Given the description of an element on the screen output the (x, y) to click on. 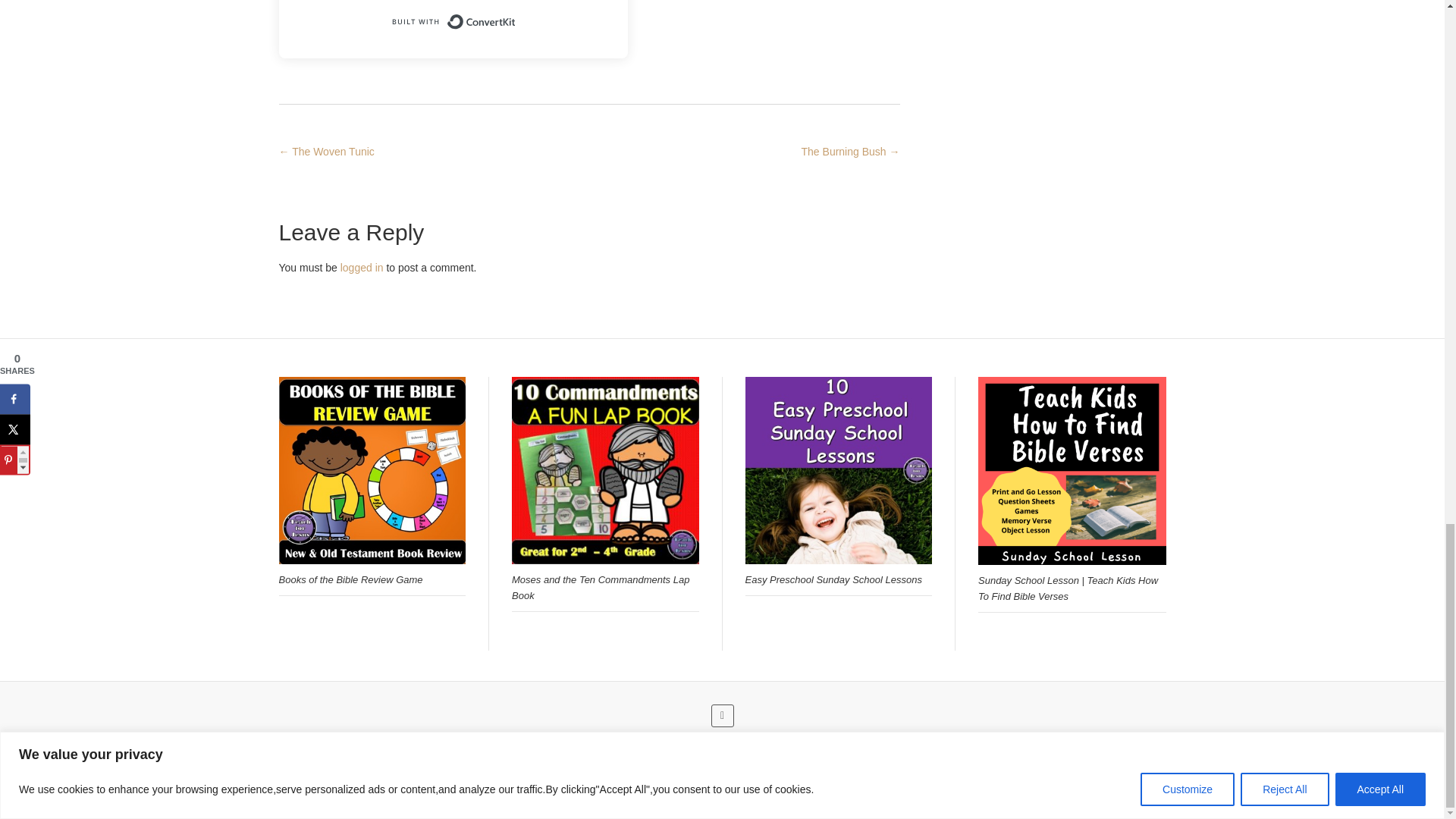
Theme Freesia (750, 799)
Teach for Jesus (614, 799)
WordPress (874, 799)
logged in (362, 267)
Built with ConvertKit (452, 22)
